Given the description of an element on the screen output the (x, y) to click on. 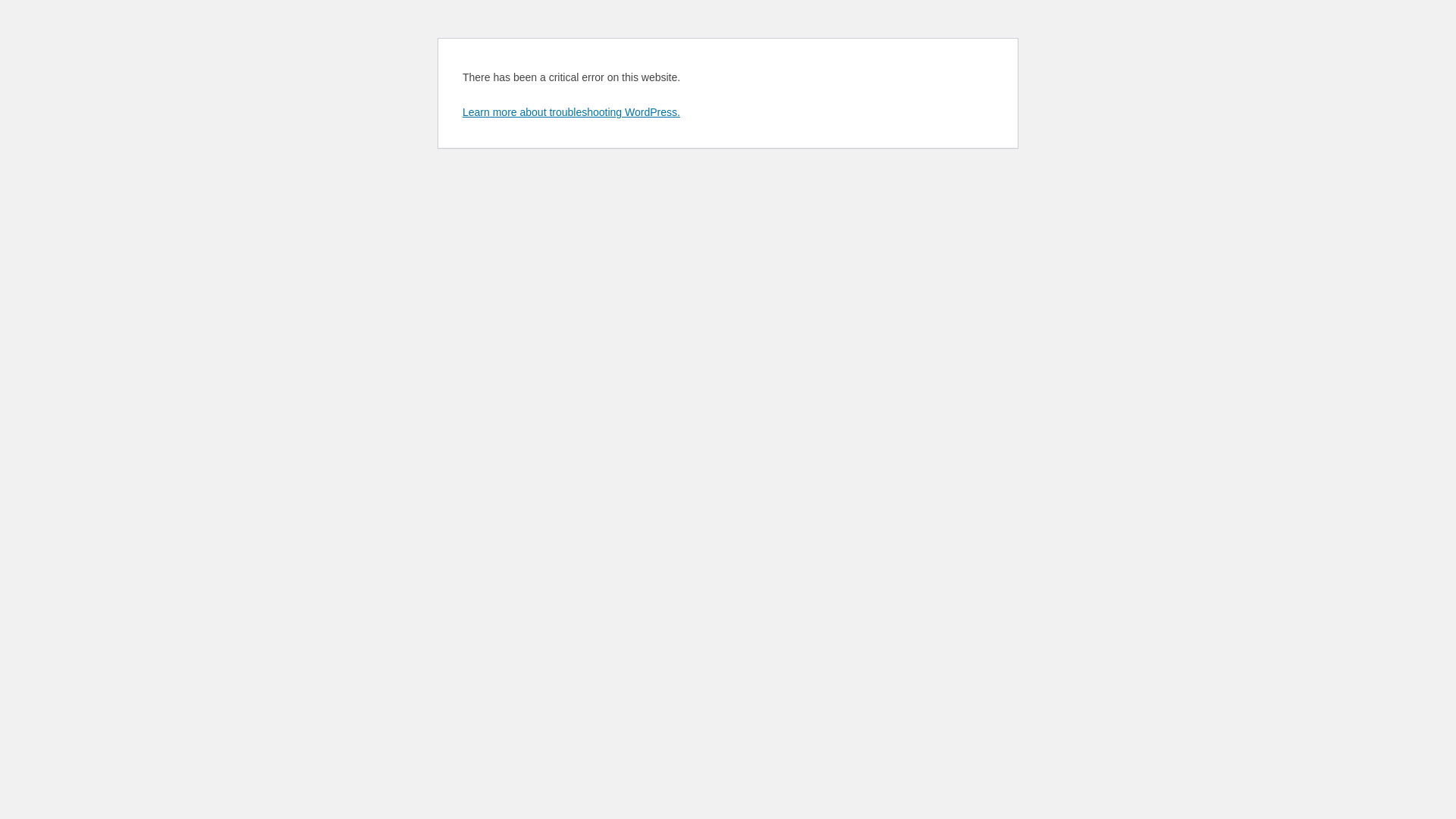
Learn more about troubleshooting WordPress. Element type: text (571, 112)
